Given the description of an element on the screen output the (x, y) to click on. 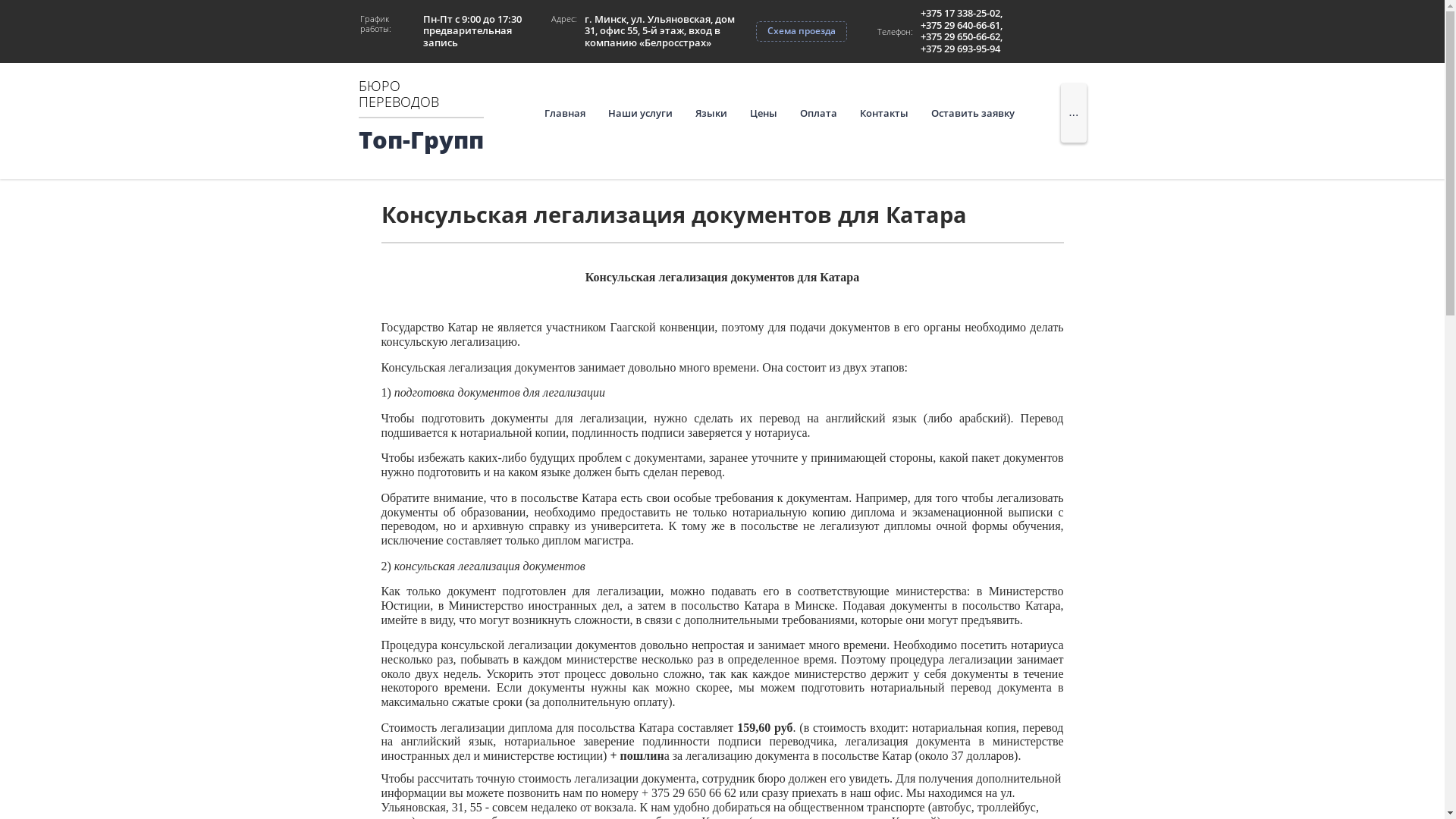
+375 29 650-66-62, Element type: text (961, 37)
+375 17 338-25-02, Element type: text (961, 13)
+375 29 693-95-94 Element type: text (961, 49)
... Element type: text (1072, 112)
+375 29 640-66-61, Element type: text (961, 25)
